Given the description of an element on the screen output the (x, y) to click on. 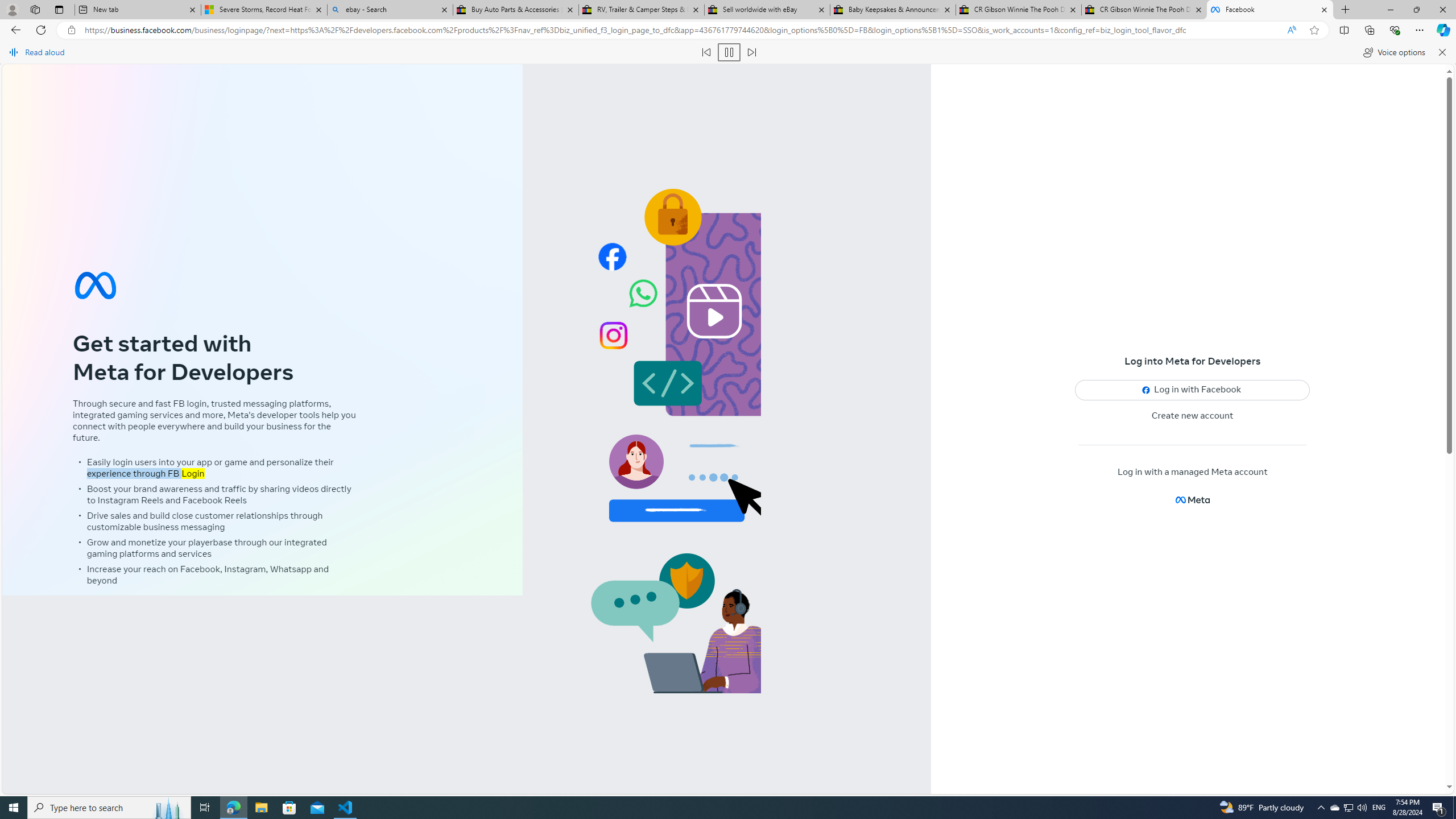
Close read aloud (1441, 52)
Create new account (1192, 415)
Read next paragraph (750, 52)
Pause read aloud (Ctrl+Shift+U) (729, 52)
Baby Keepsakes & Announcements for sale | eBay (892, 9)
